Given the description of an element on the screen output the (x, y) to click on. 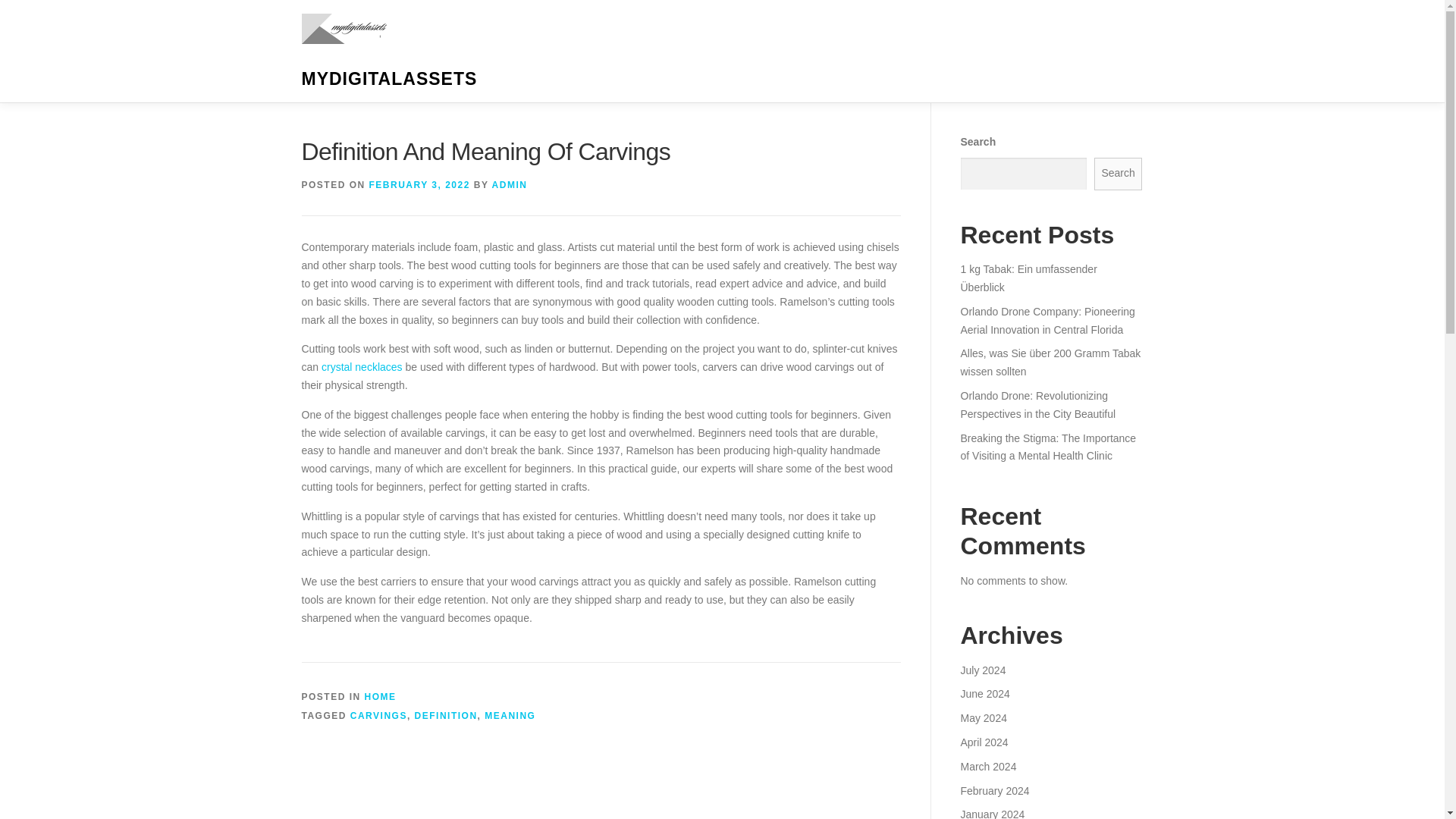
MEANING (509, 715)
ADMIN (509, 184)
DEFINITION (445, 715)
Search (1118, 174)
February 2024 (994, 789)
CARVINGS (378, 715)
crystal necklaces (362, 367)
April 2024 (983, 742)
July 2024 (982, 670)
FEBRUARY 3, 2022 (419, 184)
January 2024 (992, 813)
June 2024 (984, 693)
HOME (380, 696)
MYDIGITALASSETS (389, 78)
